Given the description of an element on the screen output the (x, y) to click on. 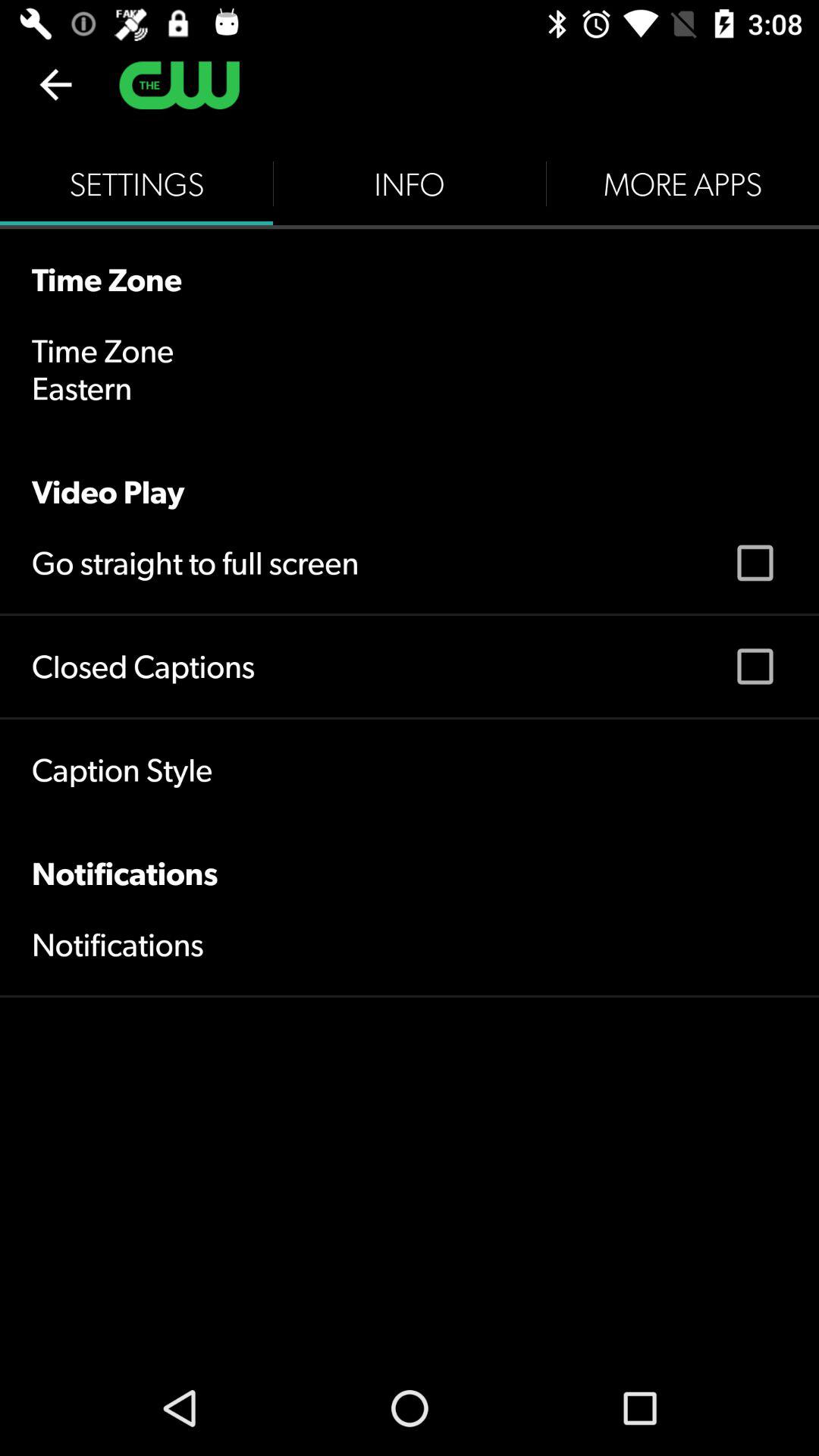
turn on the item above settings (55, 84)
